Given the description of an element on the screen output the (x, y) to click on. 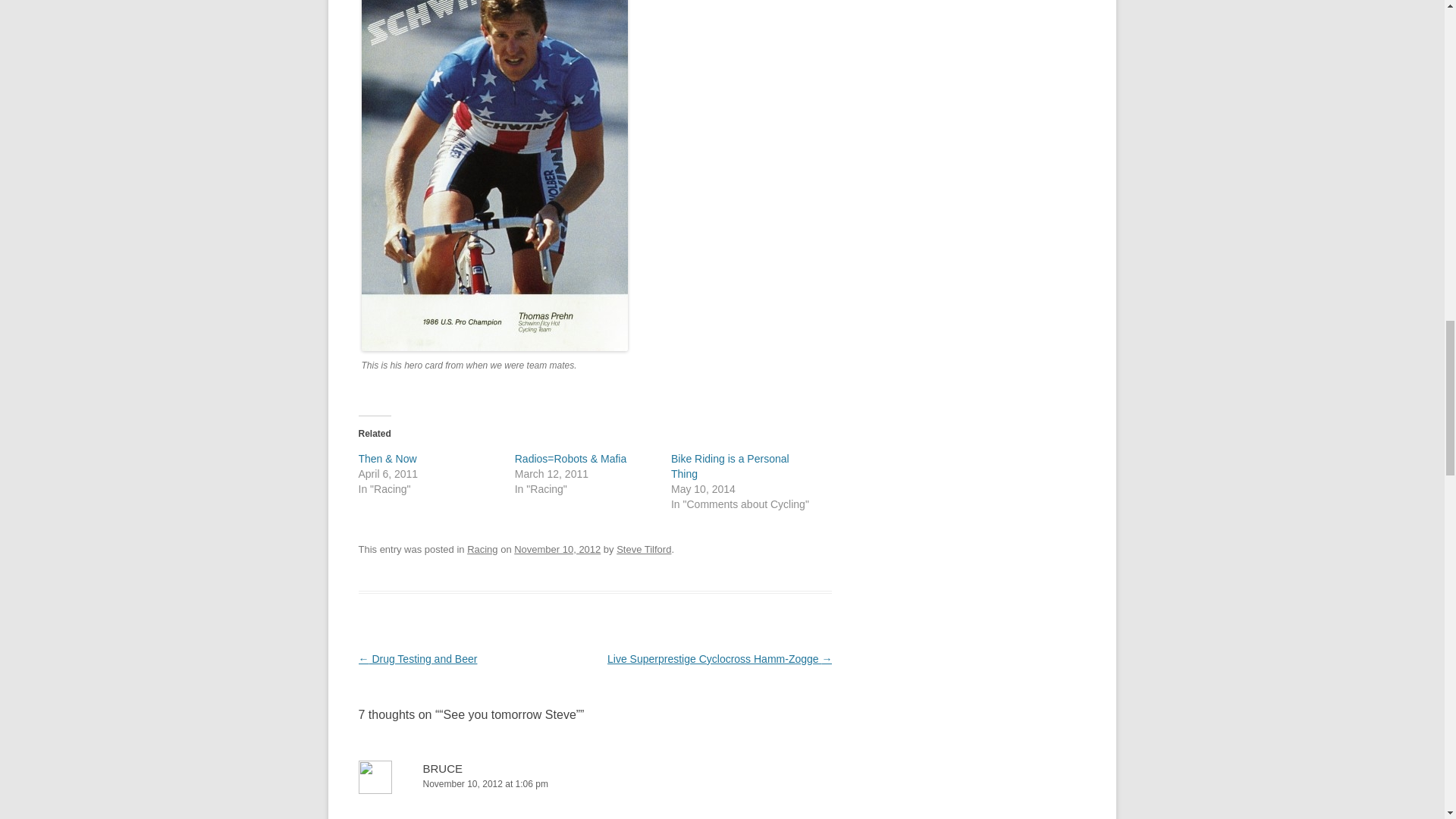
Bike Riding is a Personal Thing (730, 465)
Steve Tilford (643, 549)
10:47 am (556, 549)
November 10, 2012 (556, 549)
View all posts by Steve Tilford (643, 549)
Racing (482, 549)
November 10, 2012 at 1:06 pm (594, 784)
Bike Riding is a Personal Thing (730, 465)
